Given the description of an element on the screen output the (x, y) to click on. 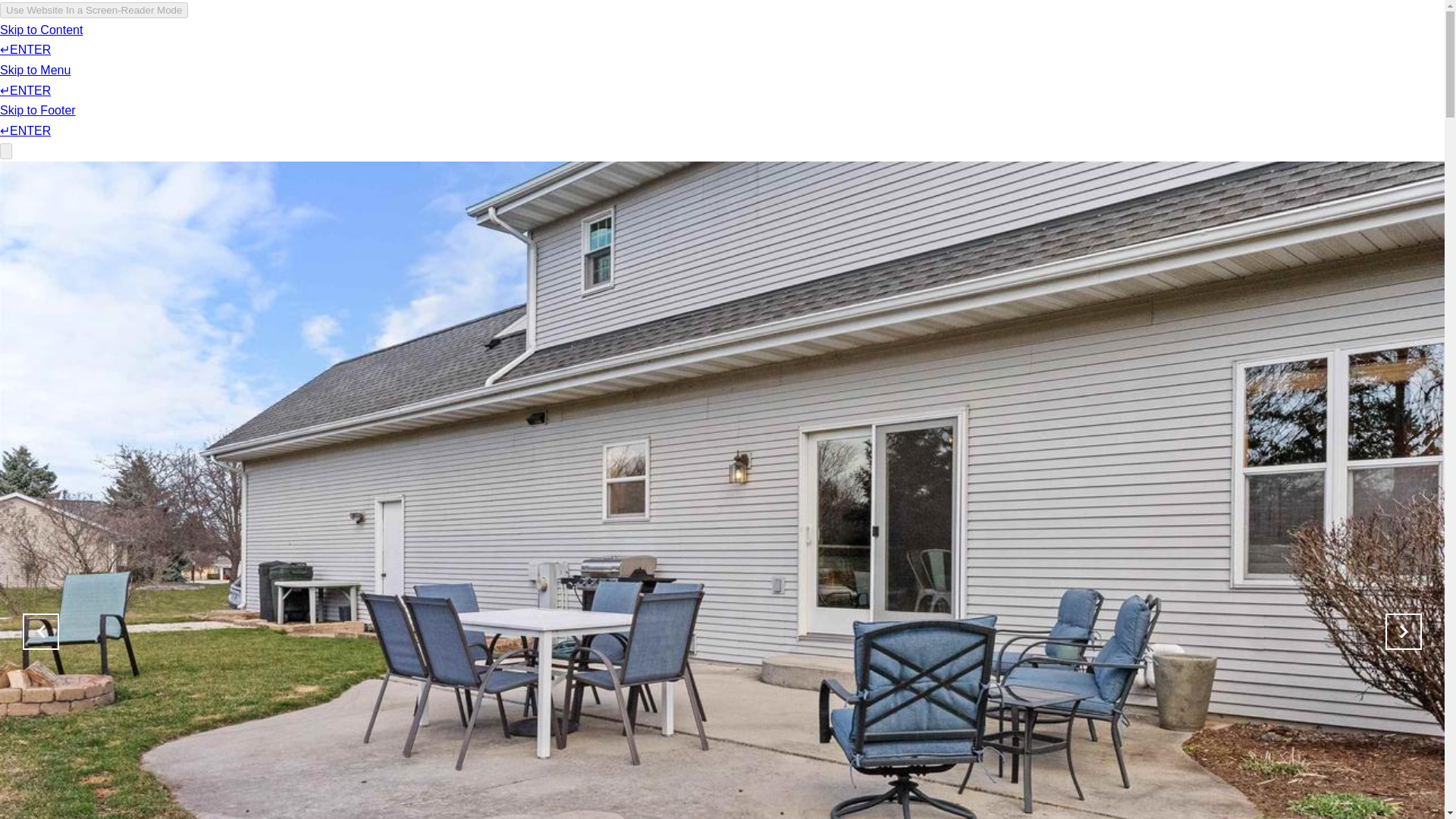
SEARCH (649, 37)
OUR STORY (1085, 37)
CONNECT (1168, 37)
EXCLUSIVE PROPERTIES (891, 37)
JOIN US (1008, 37)
FEATURED AREAS (746, 37)
